Given the description of an element on the screen output the (x, y) to click on. 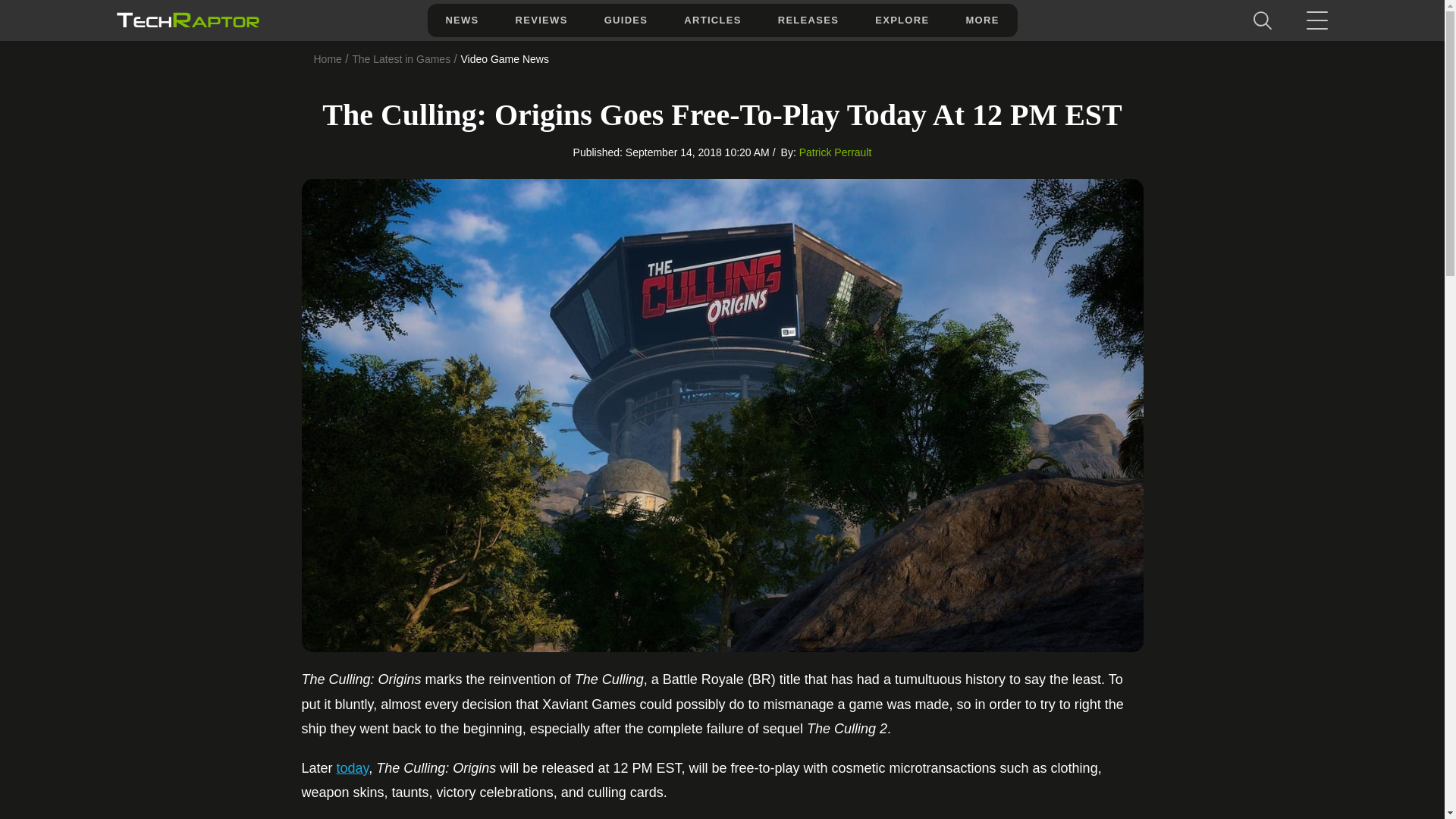
NEWS (461, 20)
TechRaptor Home (187, 20)
RELEASES (807, 20)
GUIDES (626, 20)
REVIEWS (541, 20)
ARTICLES (711, 20)
